Given the description of an element on the screen output the (x, y) to click on. 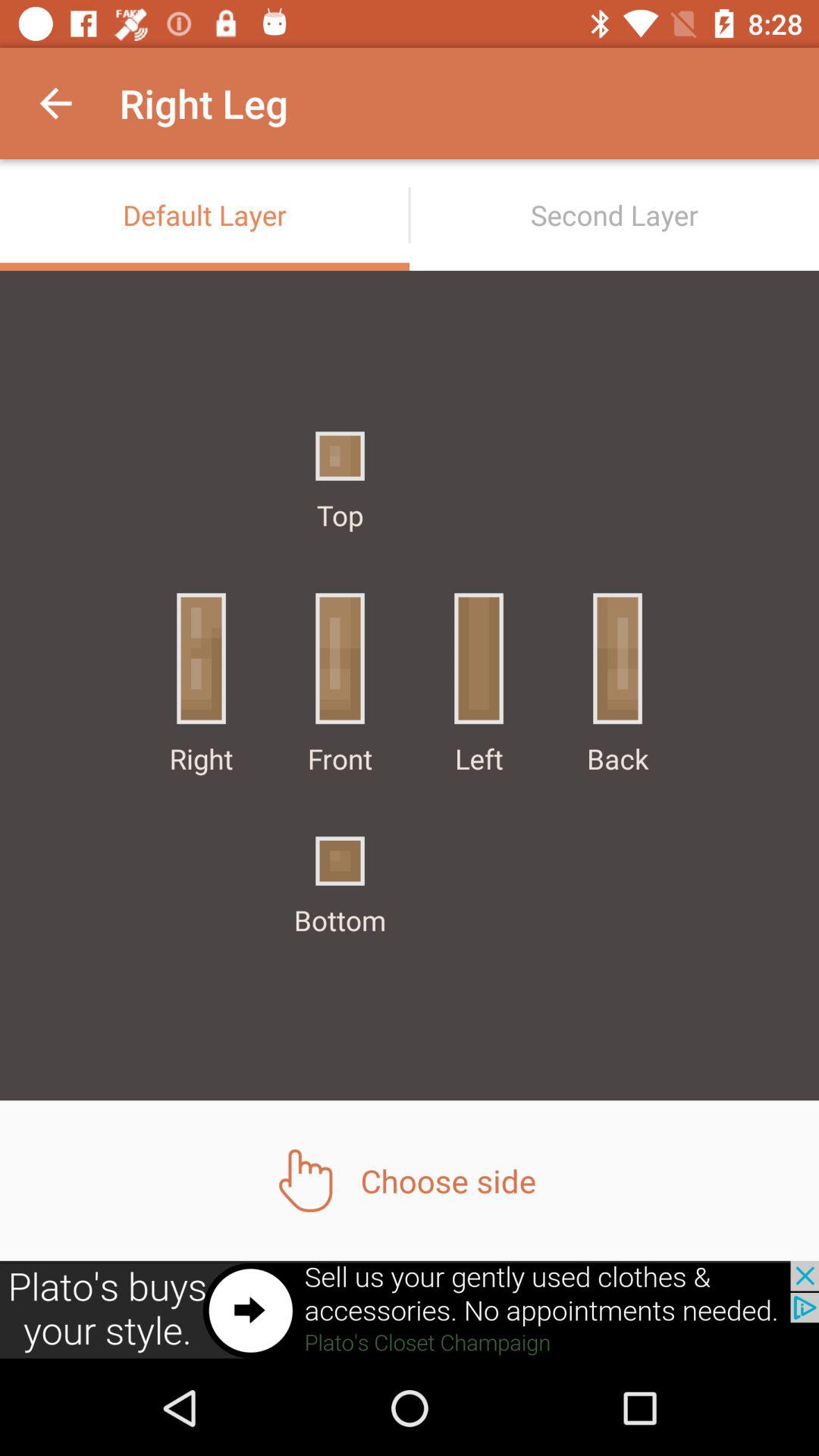
go back (409, 1310)
